Given the description of an element on the screen output the (x, y) to click on. 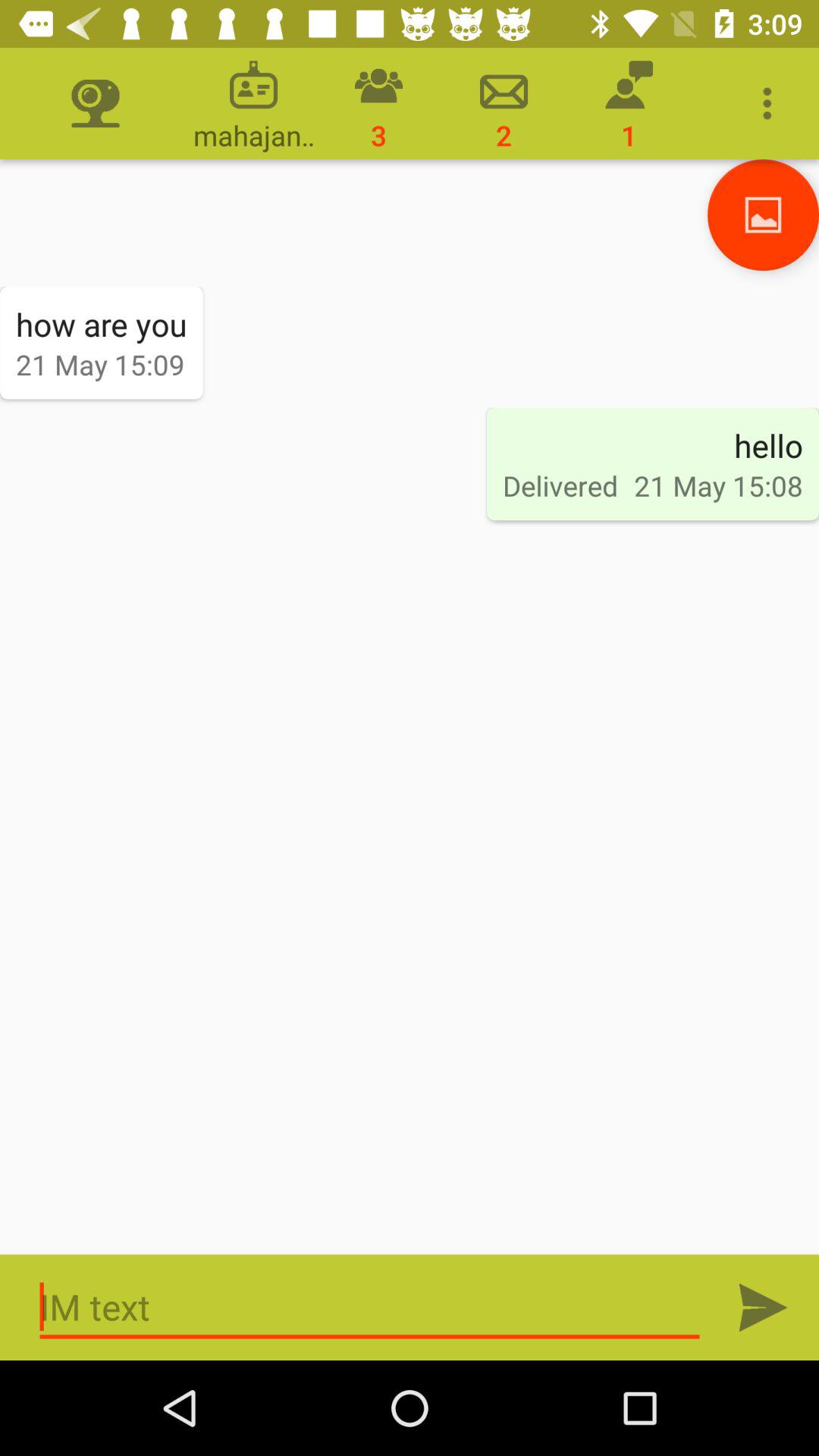
enter text message (369, 1307)
